Given the description of an element on the screen output the (x, y) to click on. 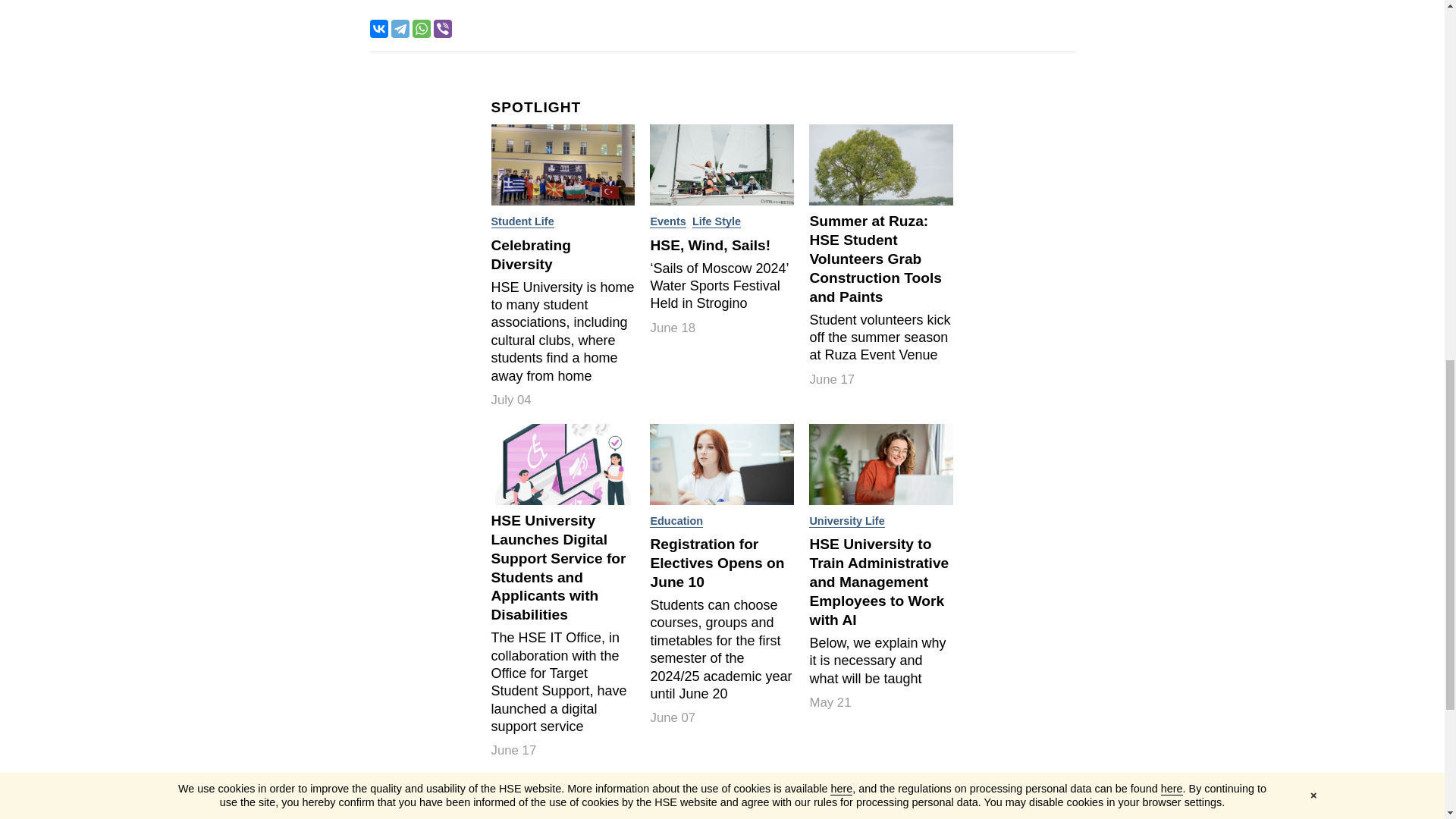
VKontakte (378, 28)
Viber (442, 28)
Telegram (400, 28)
WhatsApp (421, 28)
